Given the description of an element on the screen output the (x, y) to click on. 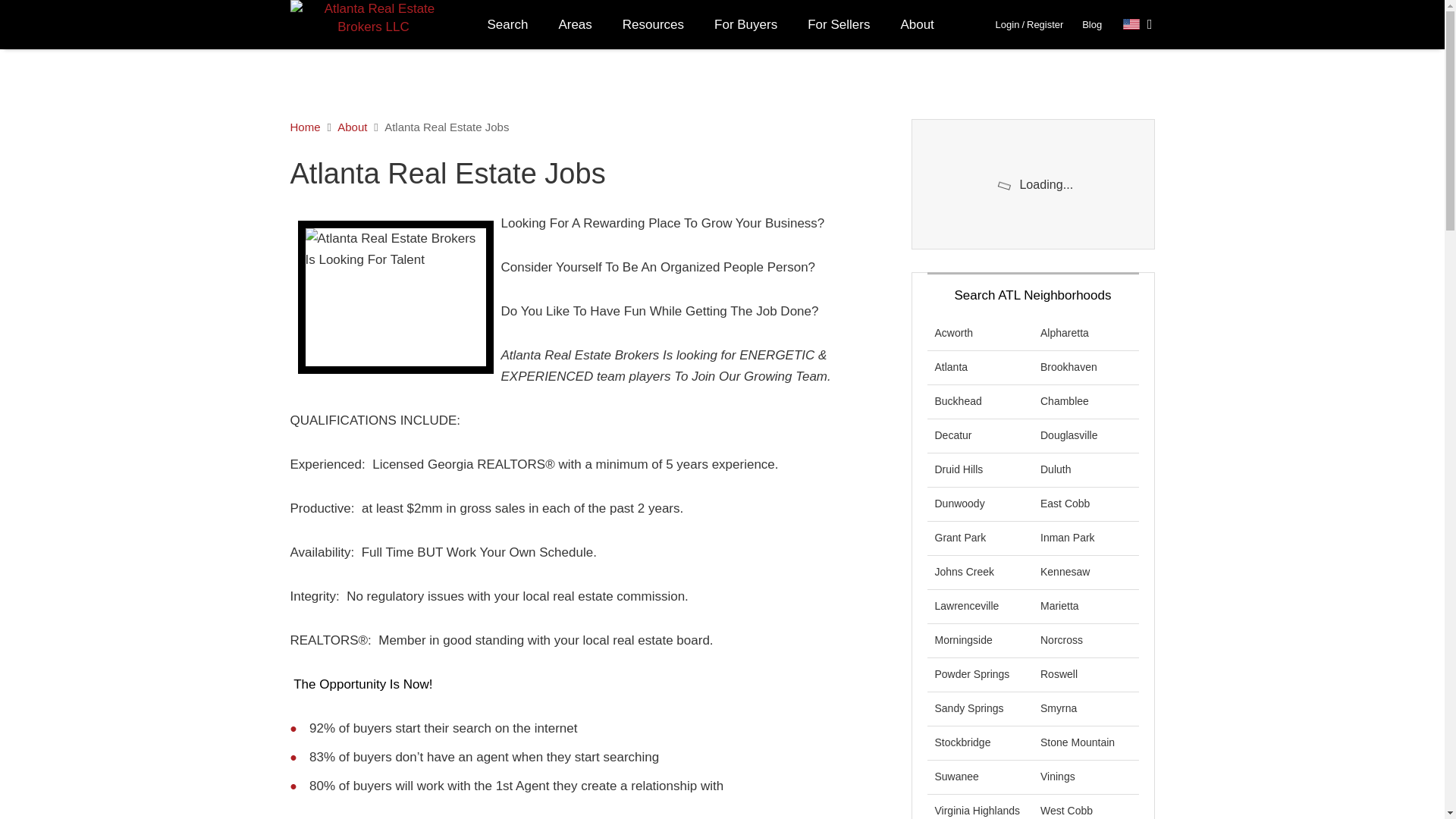
Areas (575, 24)
Select Language (1137, 24)
Search (507, 24)
Join Our Team (395, 296)
